Given the description of an element on the screen output the (x, y) to click on. 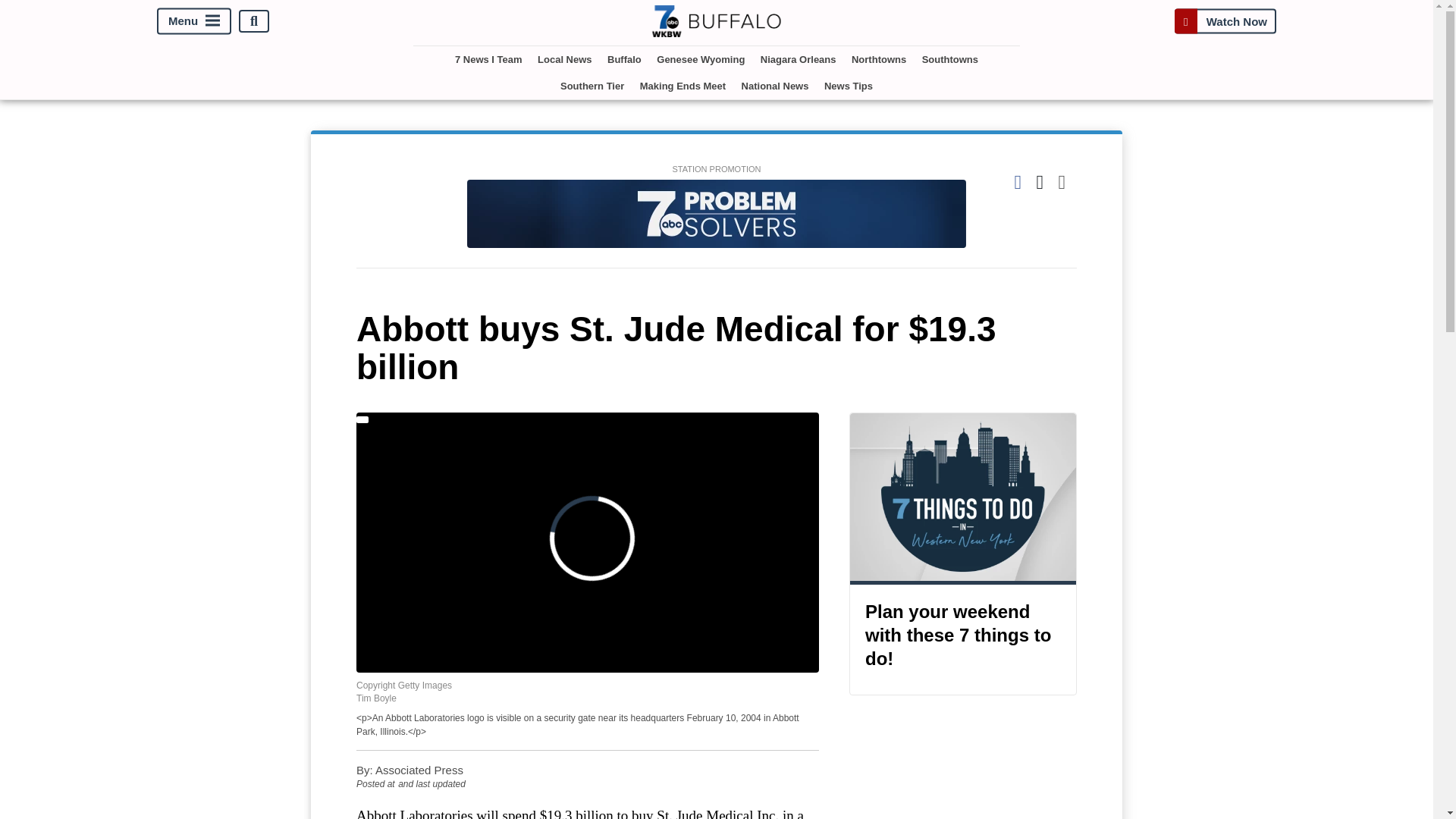
Menu (194, 21)
Watch Now (1224, 21)
